Given the description of an element on the screen output the (x, y) to click on. 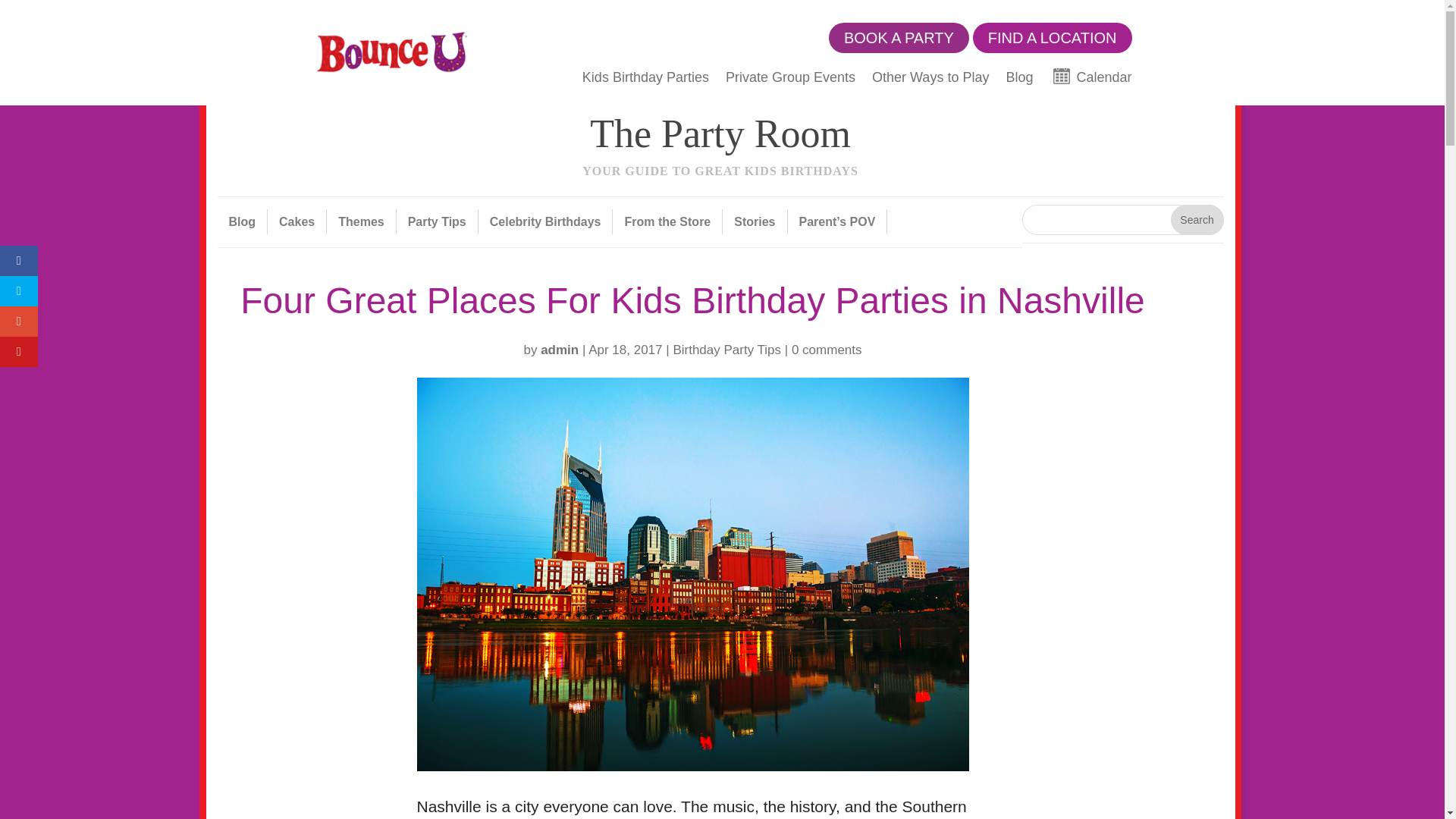
Posts by admin (559, 350)
From the Store (719, 145)
Cakes (667, 221)
Calendar (296, 221)
0 comments (1090, 82)
Search (826, 350)
Birthday Party Tips (1197, 219)
Blog (726, 350)
Other Ways to Play (1019, 82)
